Given the description of an element on the screen output the (x, y) to click on. 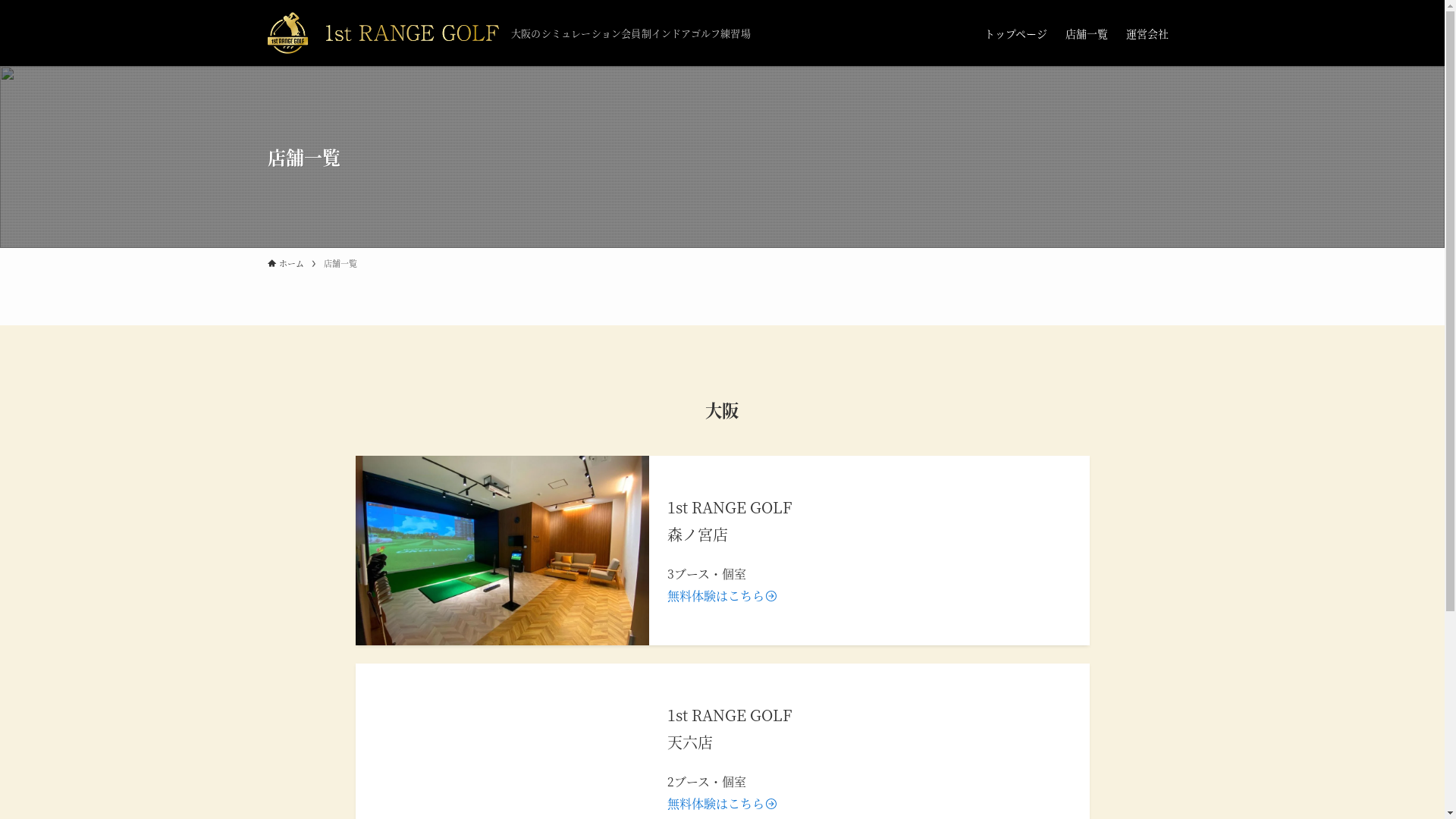
1st RANGE GOLF Element type: hover (382, 32)
search Element type: text (921, 421)
